Given the description of an element on the screen output the (x, y) to click on. 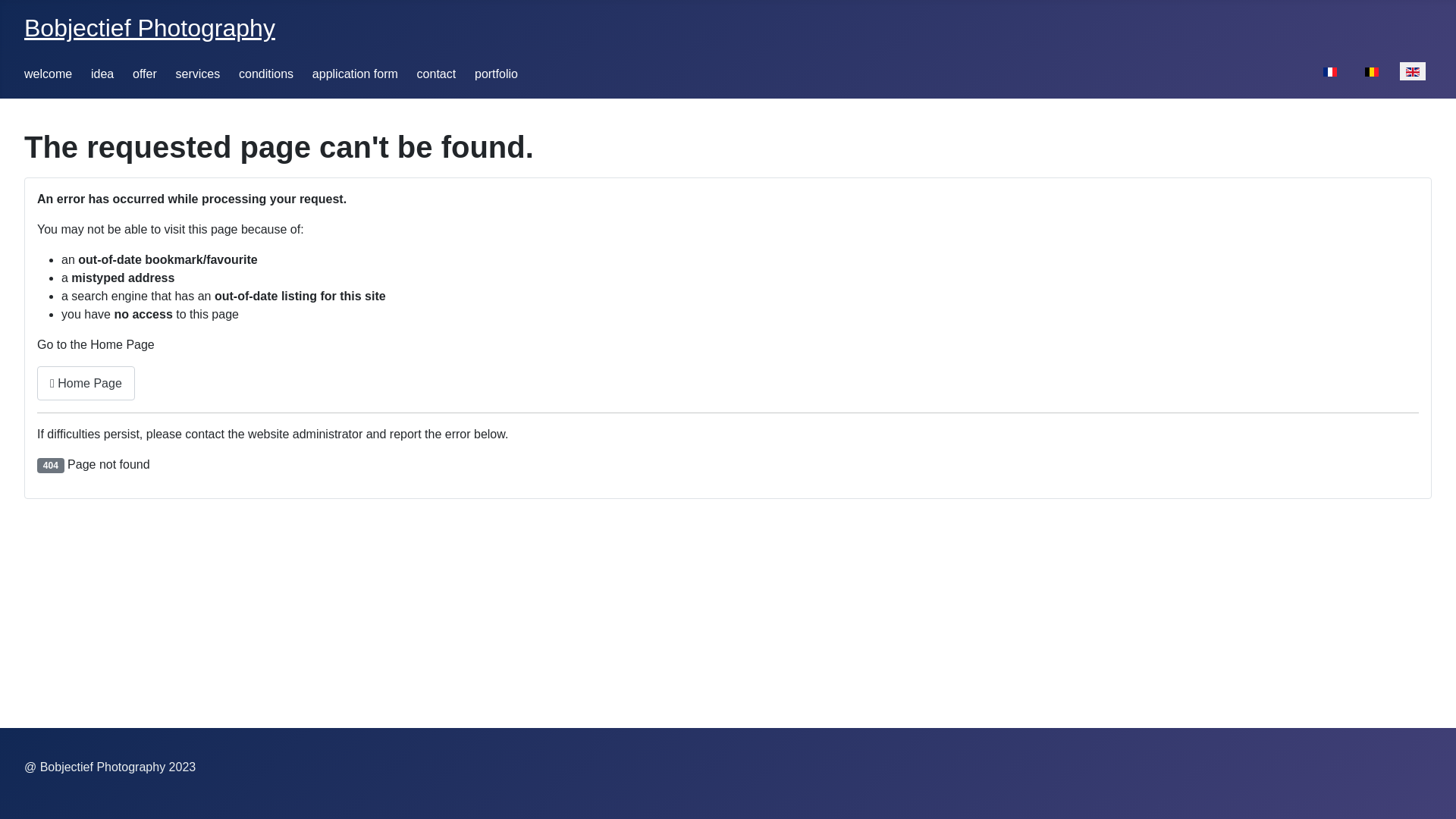
offer Element type: text (144, 73)
services Element type: text (197, 73)
contact Element type: text (436, 73)
welcome Element type: text (48, 73)
Home Page Element type: text (85, 383)
English (United Kingdom) Element type: hover (1412, 71)
portfolio Element type: text (495, 73)
Bobjectief Photography Element type: text (149, 27)
application form Element type: text (355, 73)
idea Element type: text (102, 73)
conditions Element type: text (265, 73)
